Given the description of an element on the screen output the (x, y) to click on. 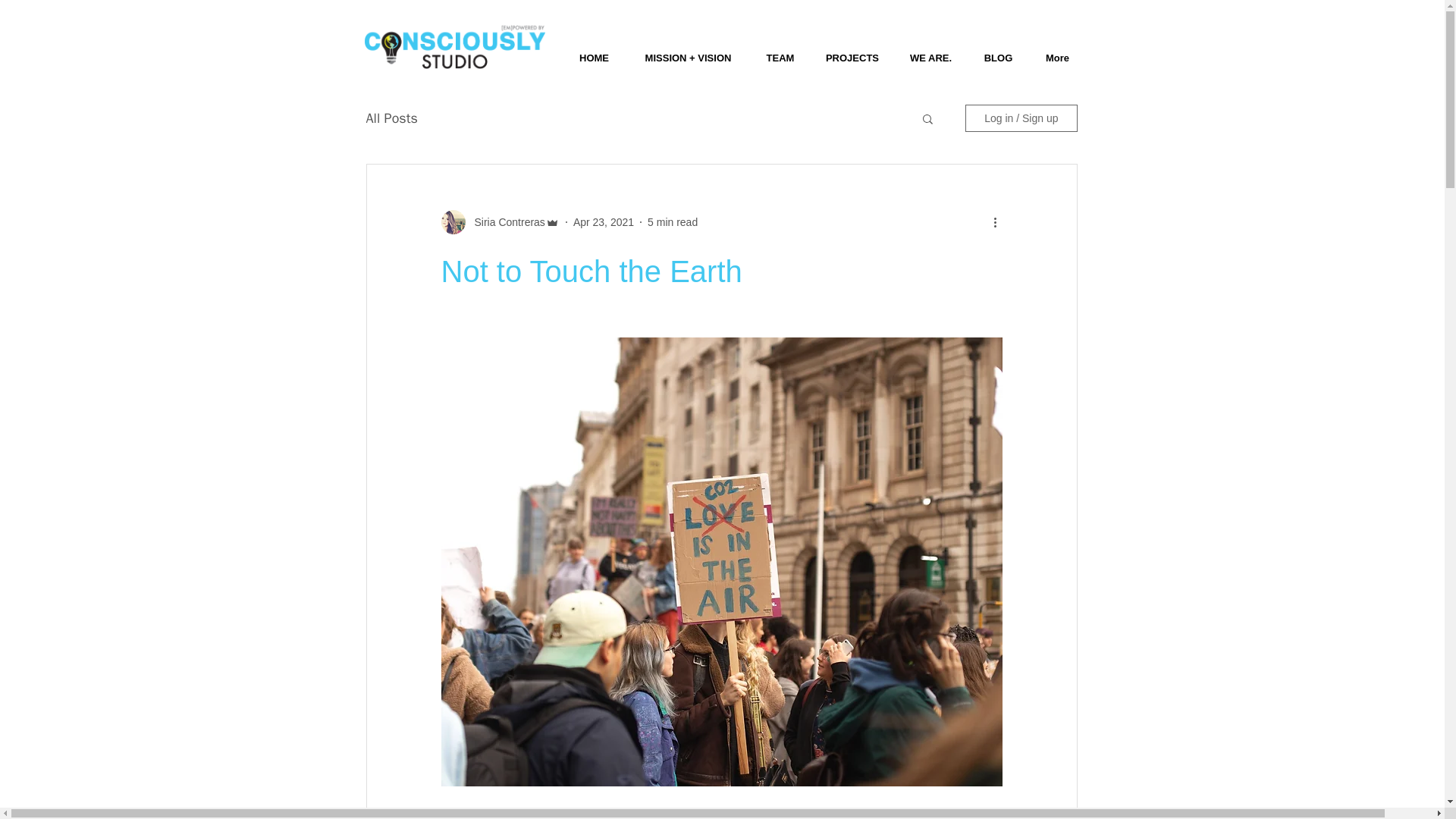
Siria Contreras (504, 221)
HOME (593, 51)
5 min read (672, 221)
BLOG (997, 51)
PROJECTS (851, 51)
TEAM (779, 51)
Apr 23, 2021 (603, 221)
All Posts (390, 117)
WE ARE. (930, 51)
